Given the description of an element on the screen output the (x, y) to click on. 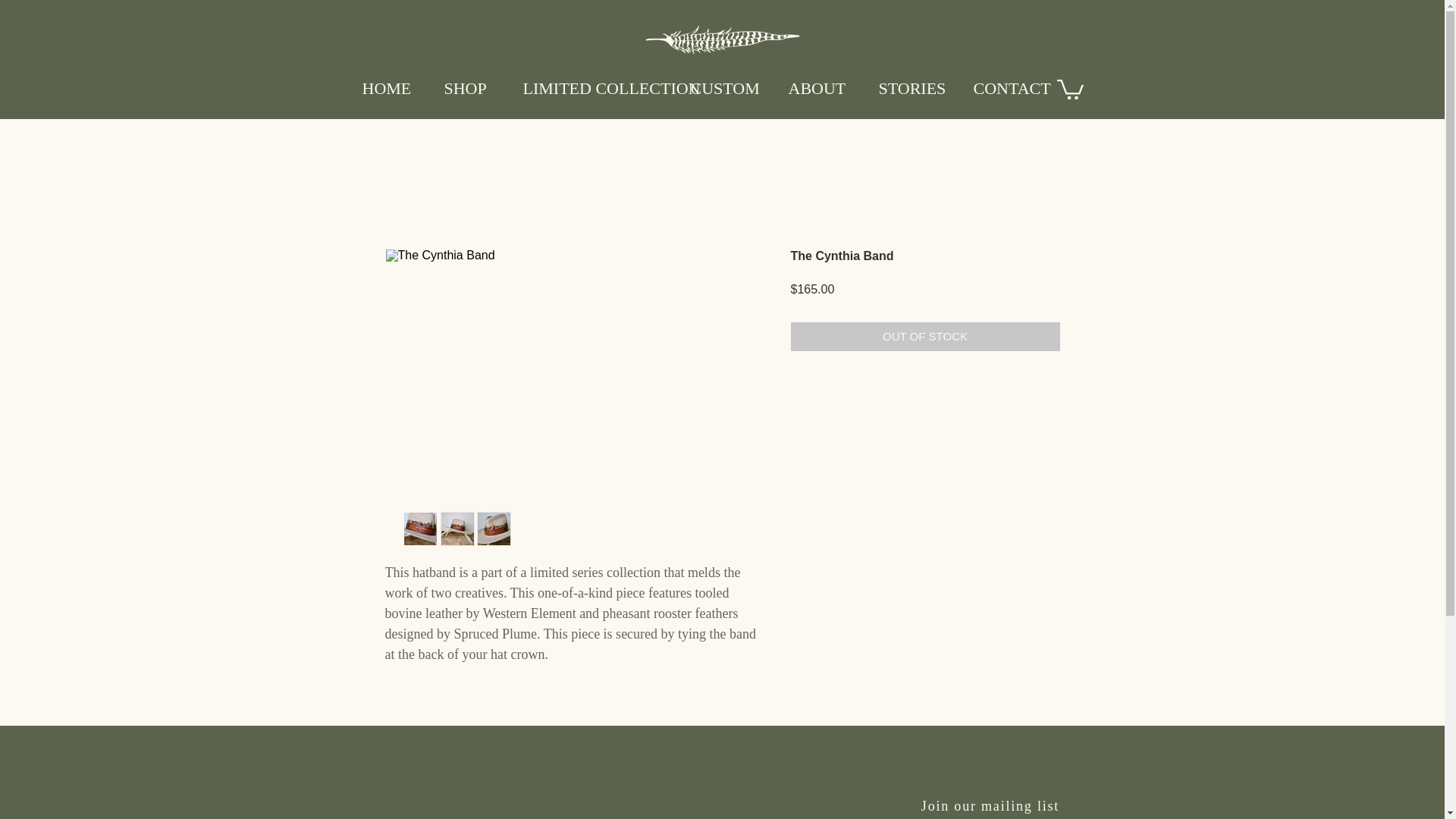
CUSTOM (728, 88)
CONTACT (1013, 88)
ABOUT (821, 88)
STORIES (914, 88)
SHOP (471, 88)
LIMITED COLLECTION (594, 88)
OUT OF STOCK (924, 337)
HOME (391, 88)
Spruced-Plume-Logos-OFF-WHITE-PLUME.png (722, 40)
